Given the description of an element on the screen output the (x, y) to click on. 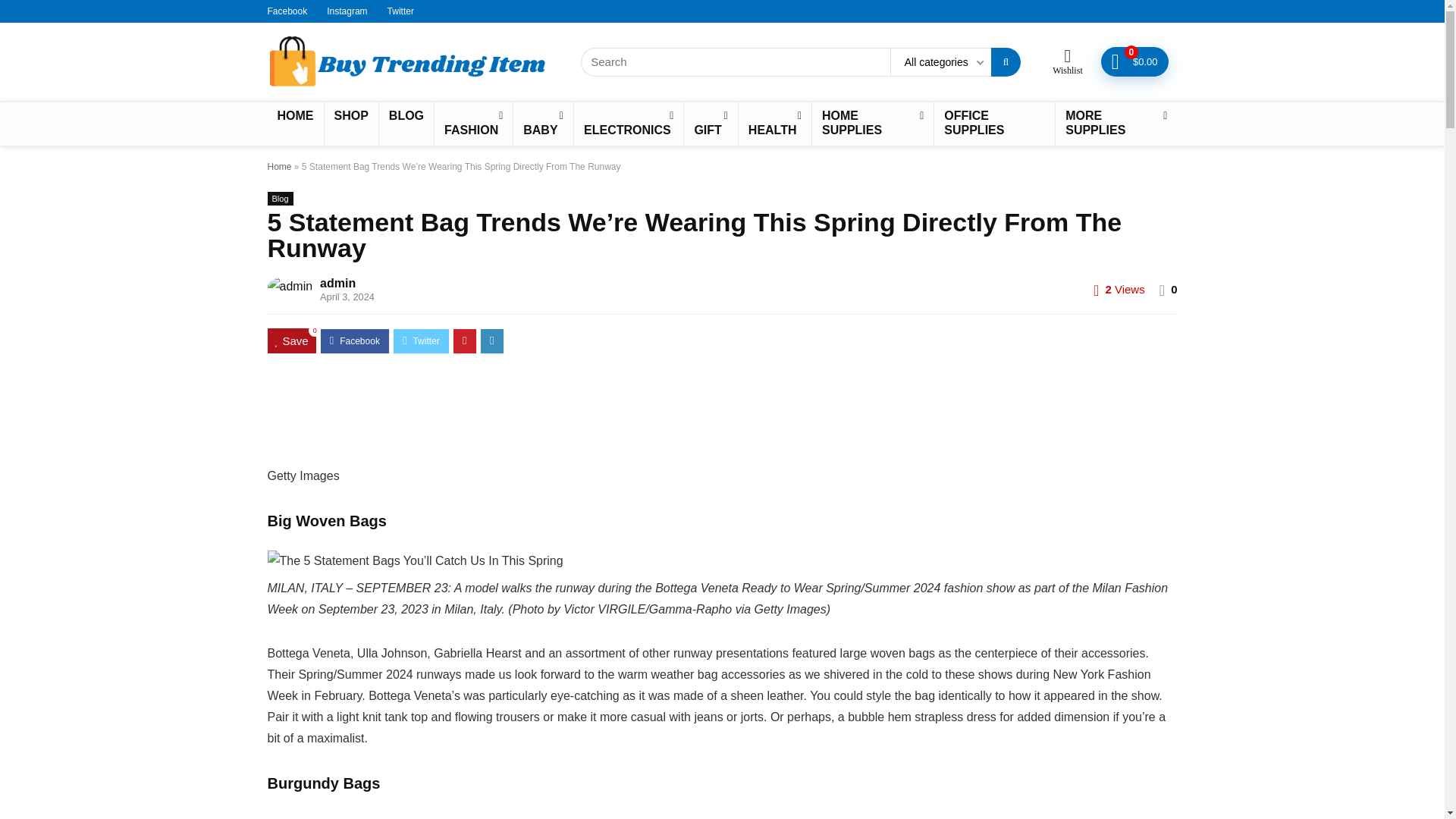
ELECTRONICS (627, 123)
SHOP (351, 116)
Instagram (346, 10)
BABY (543, 123)
View all posts in Blog (279, 198)
HOME (294, 116)
Twitter (400, 10)
GIFT (710, 123)
BLOG (405, 116)
FASHION (472, 123)
